Given the description of an element on the screen output the (x, y) to click on. 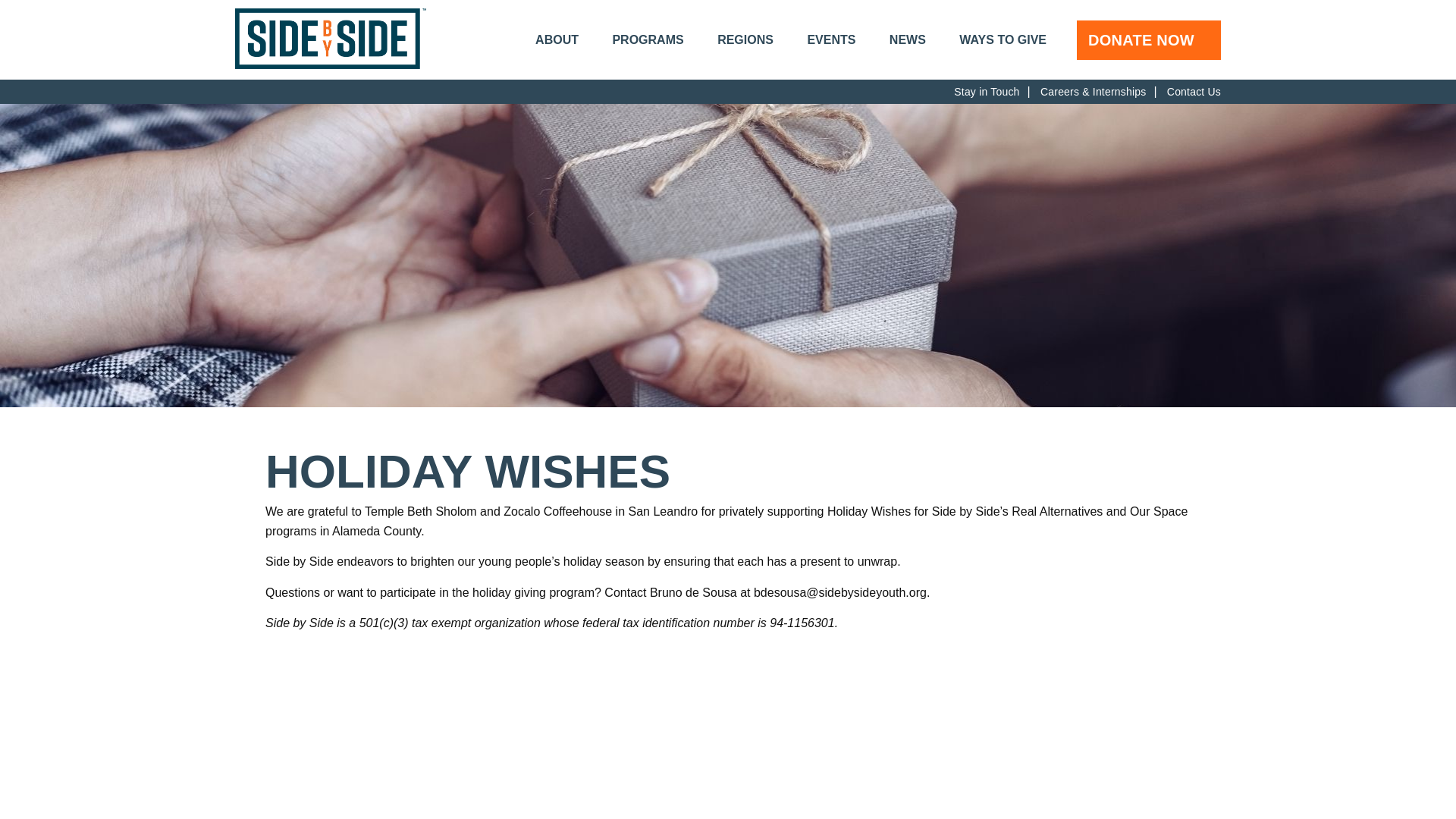
EVENTS (831, 39)
NEWS (907, 39)
ABOUT (556, 39)
PROGRAMS (646, 39)
REGIONS (745, 39)
WAYS TO GIVE (1002, 39)
